Given the description of an element on the screen output the (x, y) to click on. 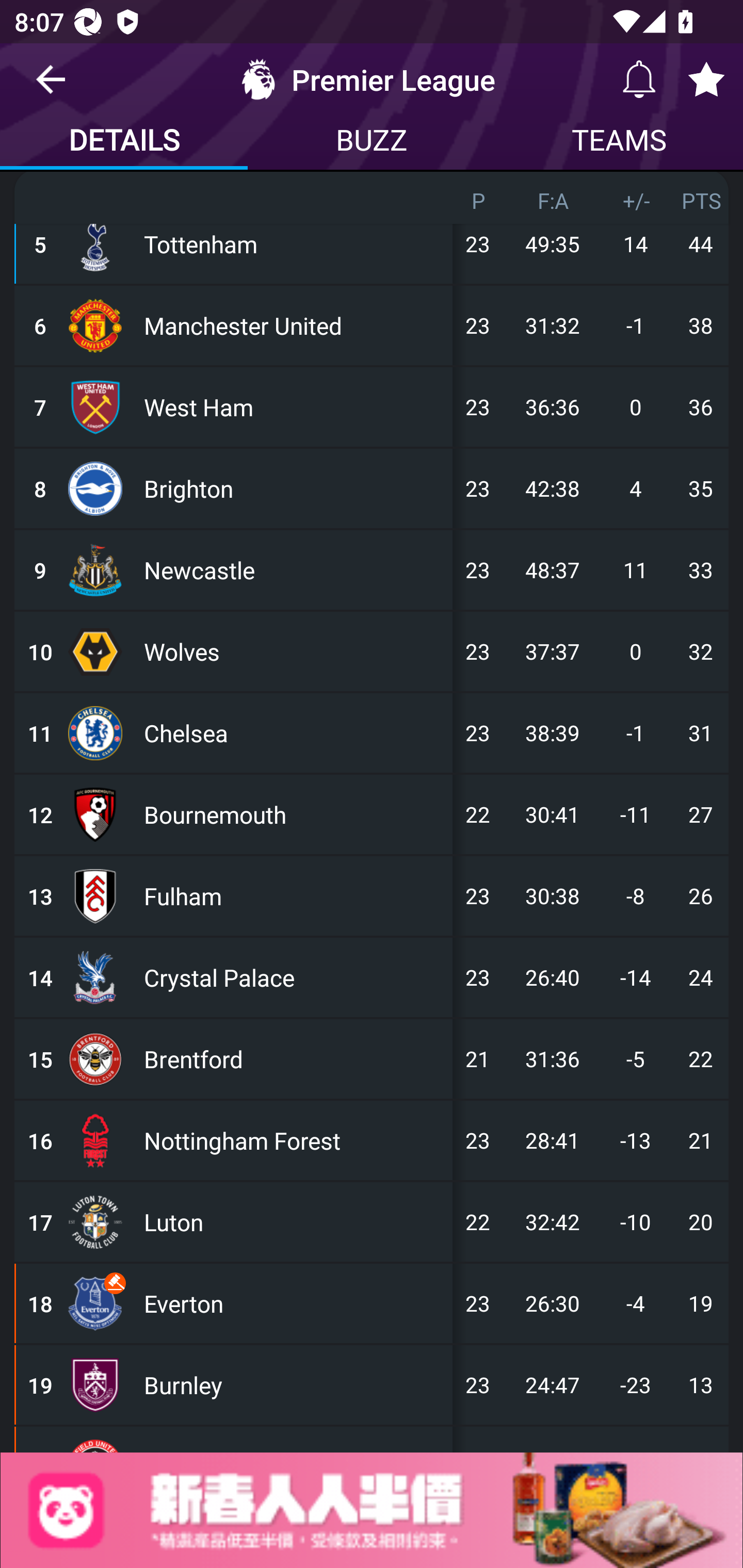
Navigate up (50, 86)
DETAILS (123, 142)
BUZZ (371, 142)
TEAMS (619, 142)
5 Tottenham 23 49:35 14 44 (371, 243)
Tottenham (293, 243)
6 Manchester United 23 31:32 -1 38 (371, 325)
Manchester United (293, 325)
7 West Ham 23 36:36 0 36 (371, 406)
West Ham (293, 406)
8 Brighton 23 42:38 4 35 (371, 488)
Brighton (293, 488)
9 Newcastle 23 48:37 11 33 (371, 569)
Newcastle (293, 569)
10 Wolves 23 37:37 0 32 (371, 651)
Wolves (293, 651)
11 Chelsea 23 38:39 -1 31 (371, 733)
Chelsea (293, 733)
12 Bournemouth 22 30:41 -11 27 (371, 814)
Bournemouth (293, 814)
13 Fulham 23 30:38 -8 26 (371, 896)
Fulham (293, 896)
14 Crystal Palace 23 26:40 -14 24 (371, 977)
Crystal Palace (293, 977)
15 Brentford 21 31:36 -5 22 (371, 1059)
Brentford (293, 1059)
16 Nottingham Forest 23 28:41 -13 21 (371, 1140)
Nottingham Forest (293, 1140)
17 Luton 22 32:42 -10 20 (371, 1222)
Luton (293, 1222)
18 Everton 23 26:30 -4 19 (371, 1303)
Everton (293, 1303)
19 Burnley 23 24:47 -23 13 (371, 1385)
Burnley (293, 1385)
Advertisement (371, 1509)
Advertisement (371, 1509)
